Given the description of an element on the screen output the (x, y) to click on. 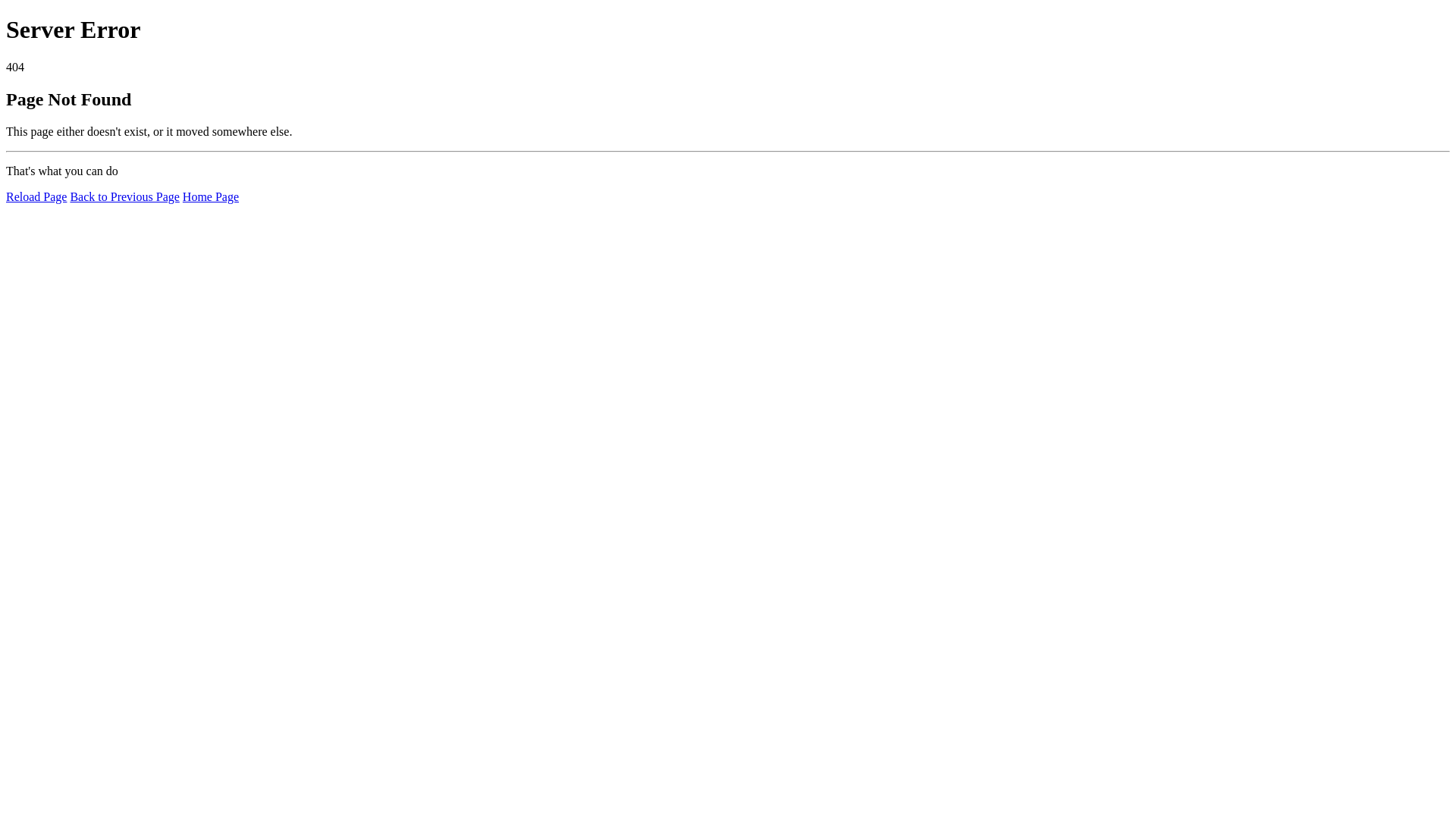
Home Page Element type: text (210, 196)
Back to Previous Page Element type: text (123, 196)
Reload Page Element type: text (36, 196)
